Given the description of an element on the screen output the (x, y) to click on. 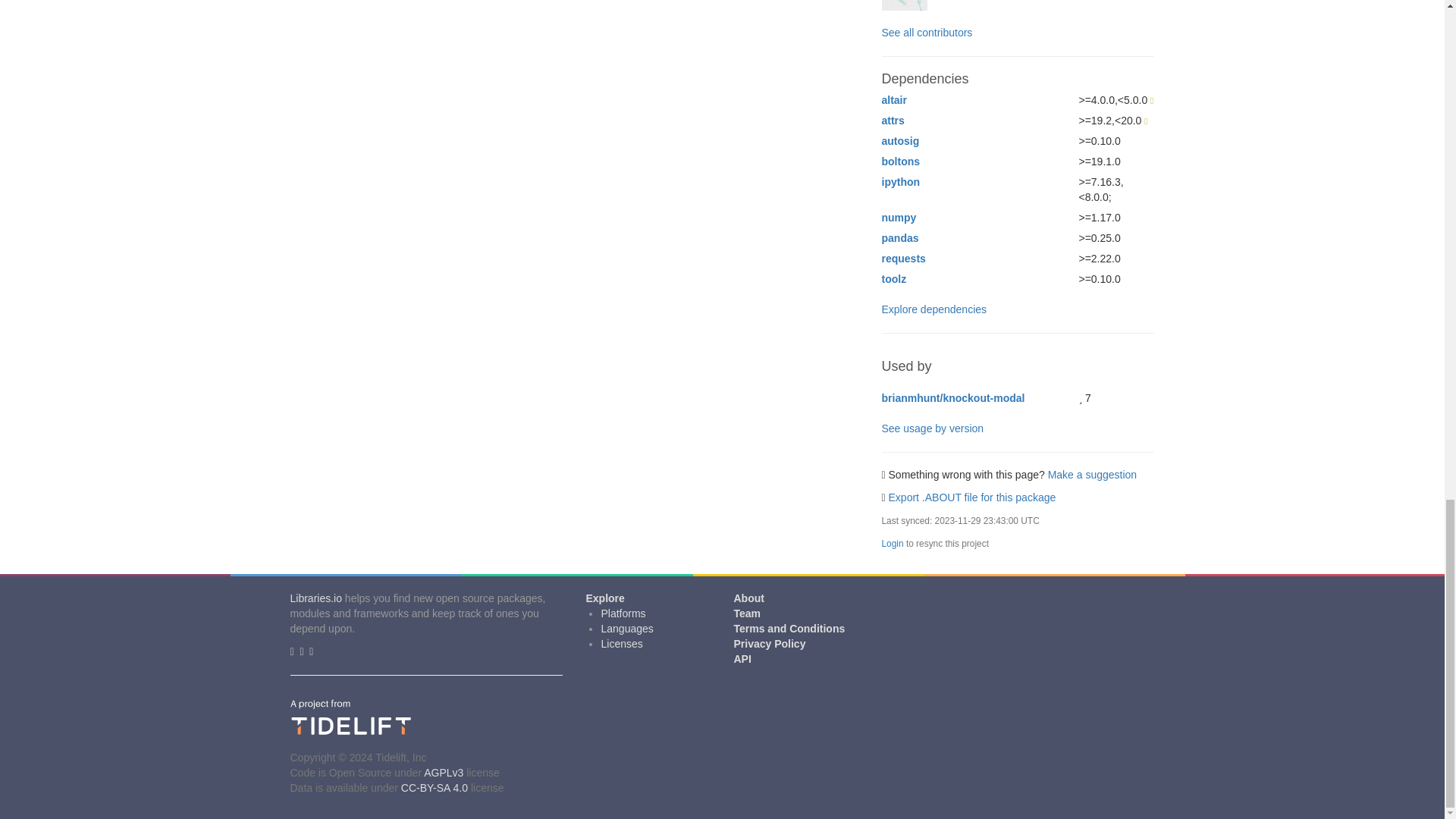
overlapping points (535, 82)
Examples (575, 241)
research efforts (561, 90)
